Given the description of an element on the screen output the (x, y) to click on. 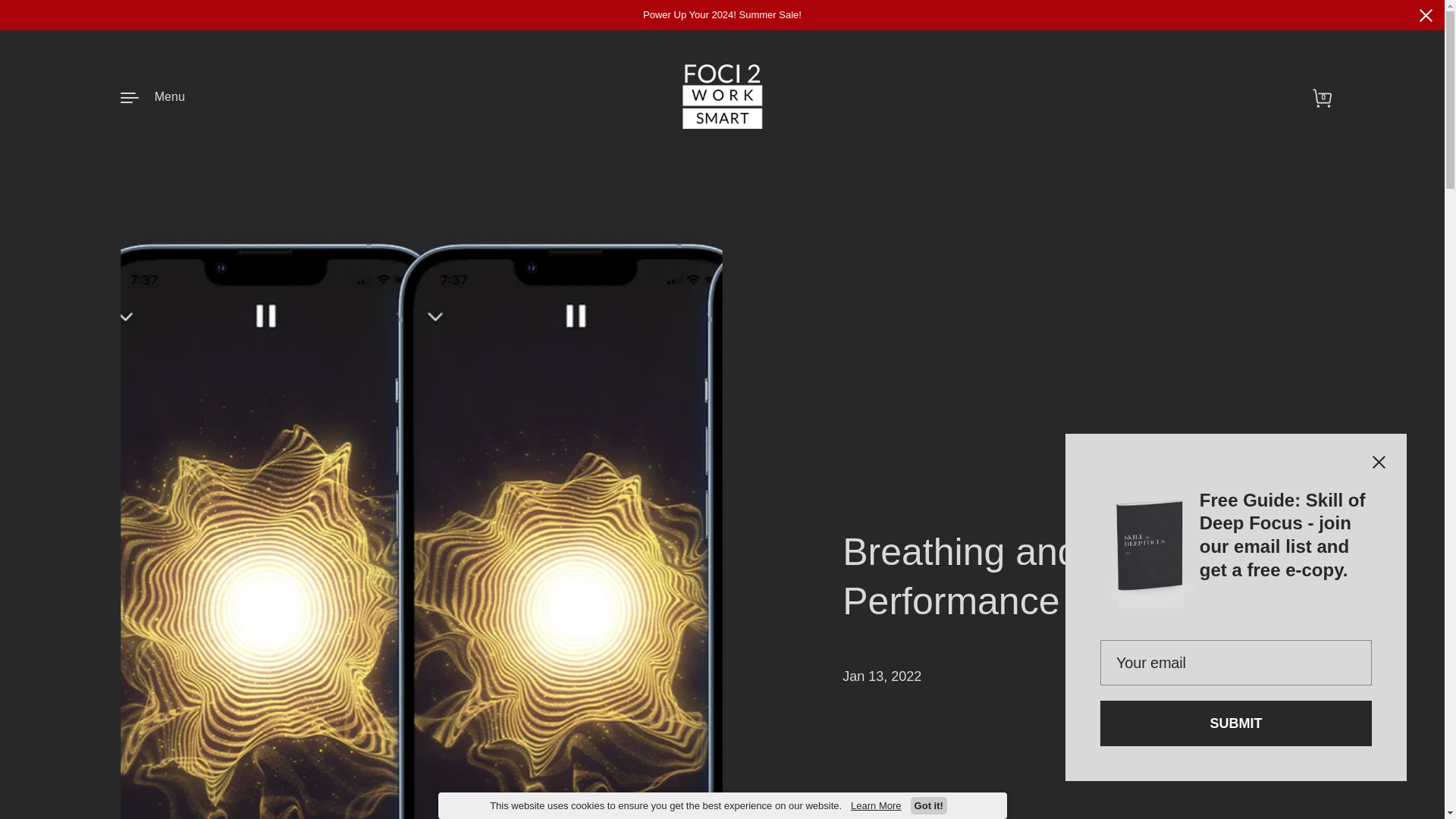
Menu (152, 96)
FOCI (721, 96)
